Given the description of an element on the screen output the (x, y) to click on. 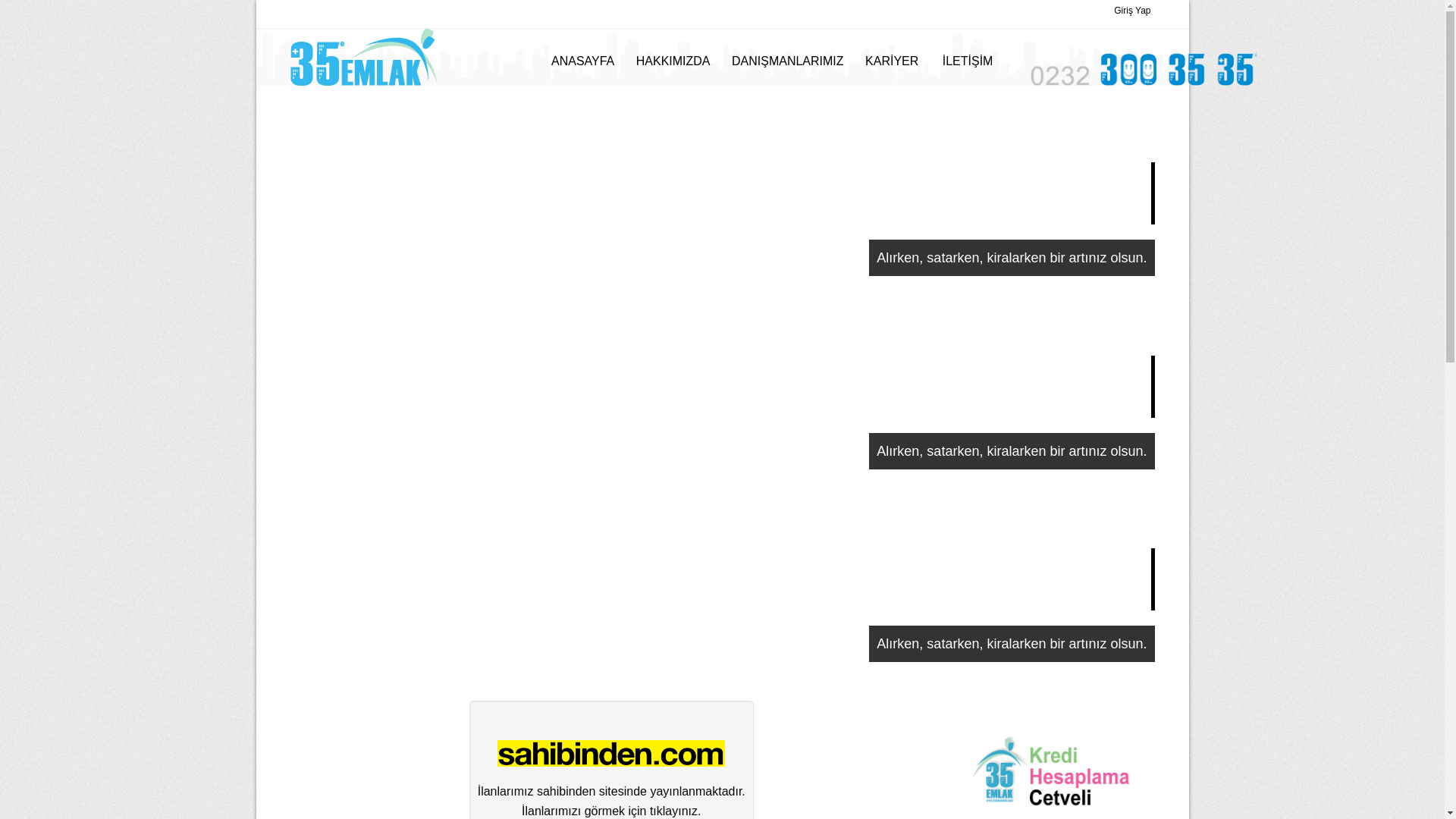
ANASAYFA Element type: text (582, 61)
HAKKIMIZDA Element type: text (673, 61)
